Given the description of an element on the screen output the (x, y) to click on. 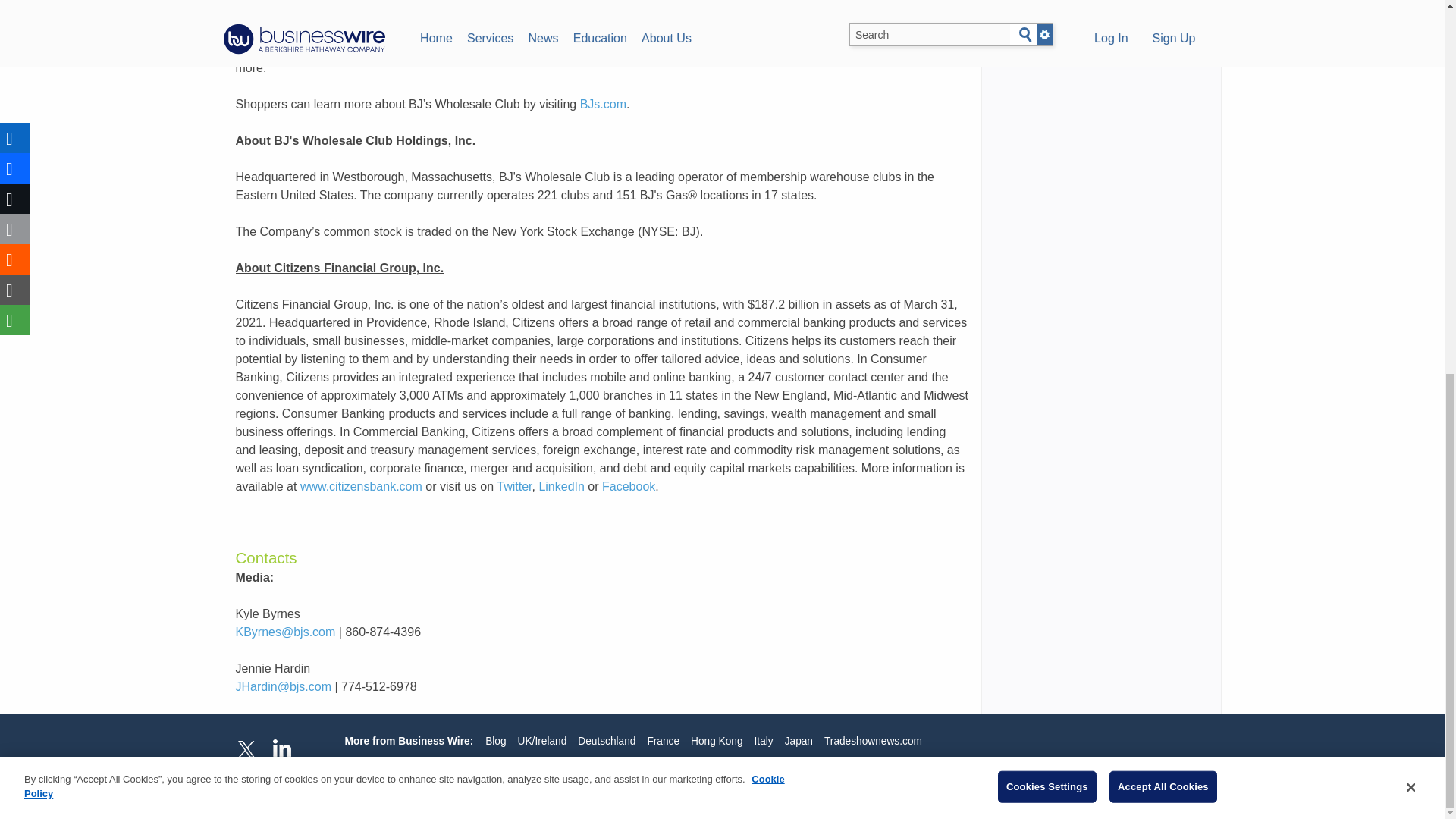
curbside pickup (892, 49)
Twitter (513, 486)
BJs.com (602, 103)
buy online, pick up in-club (569, 49)
www.citizensbank.com (360, 486)
mobile app (462, 49)
Facebook (628, 486)
LinkedIn (561, 486)
